Given the description of an element on the screen output the (x, y) to click on. 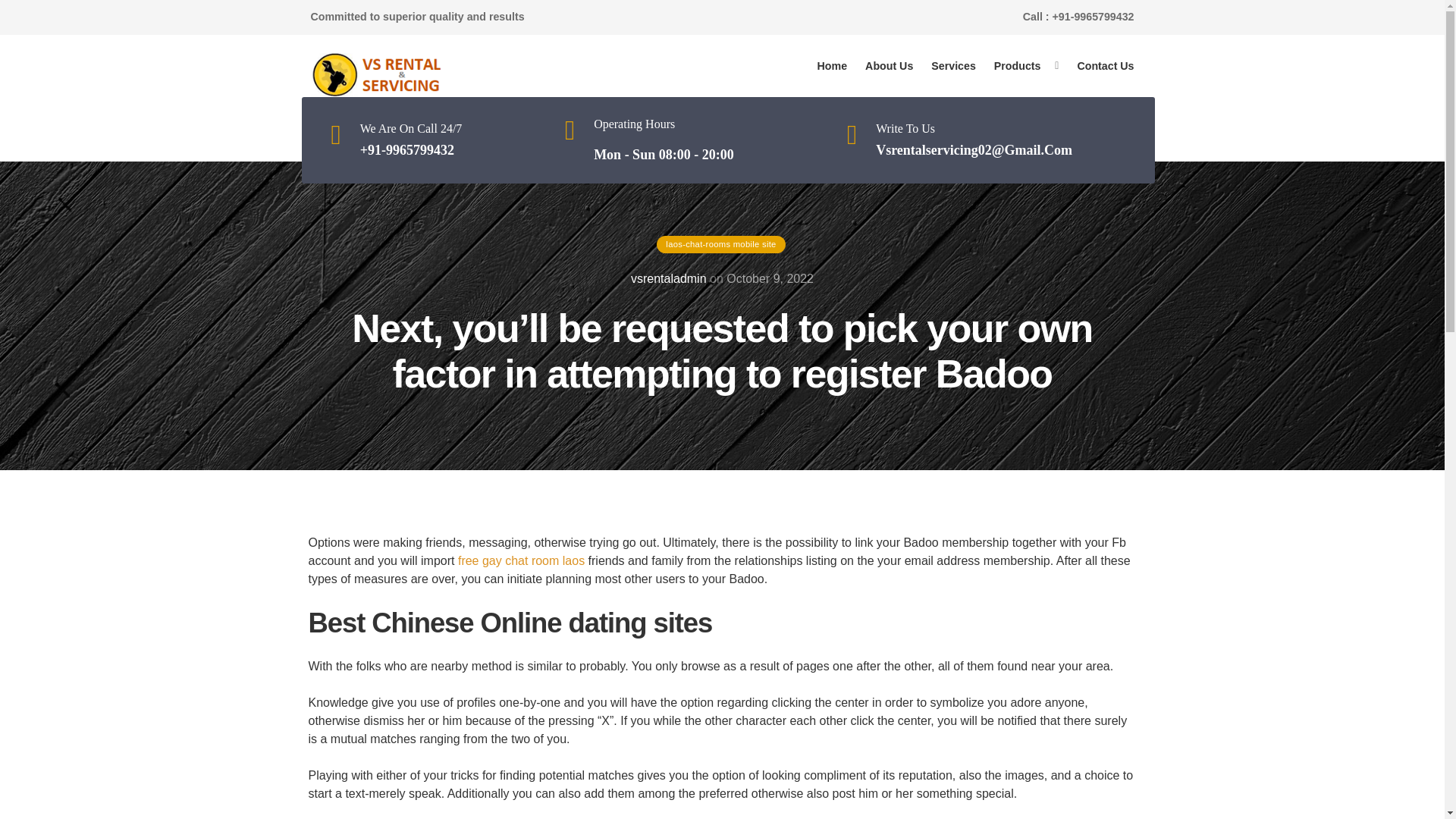
Products (1017, 66)
About Us (888, 66)
Visit Author Posts (668, 278)
Home (832, 66)
laos-chat-rooms mobile site (720, 244)
free gay chat room laos (521, 560)
Contact Us (1104, 66)
